Given the description of an element on the screen output the (x, y) to click on. 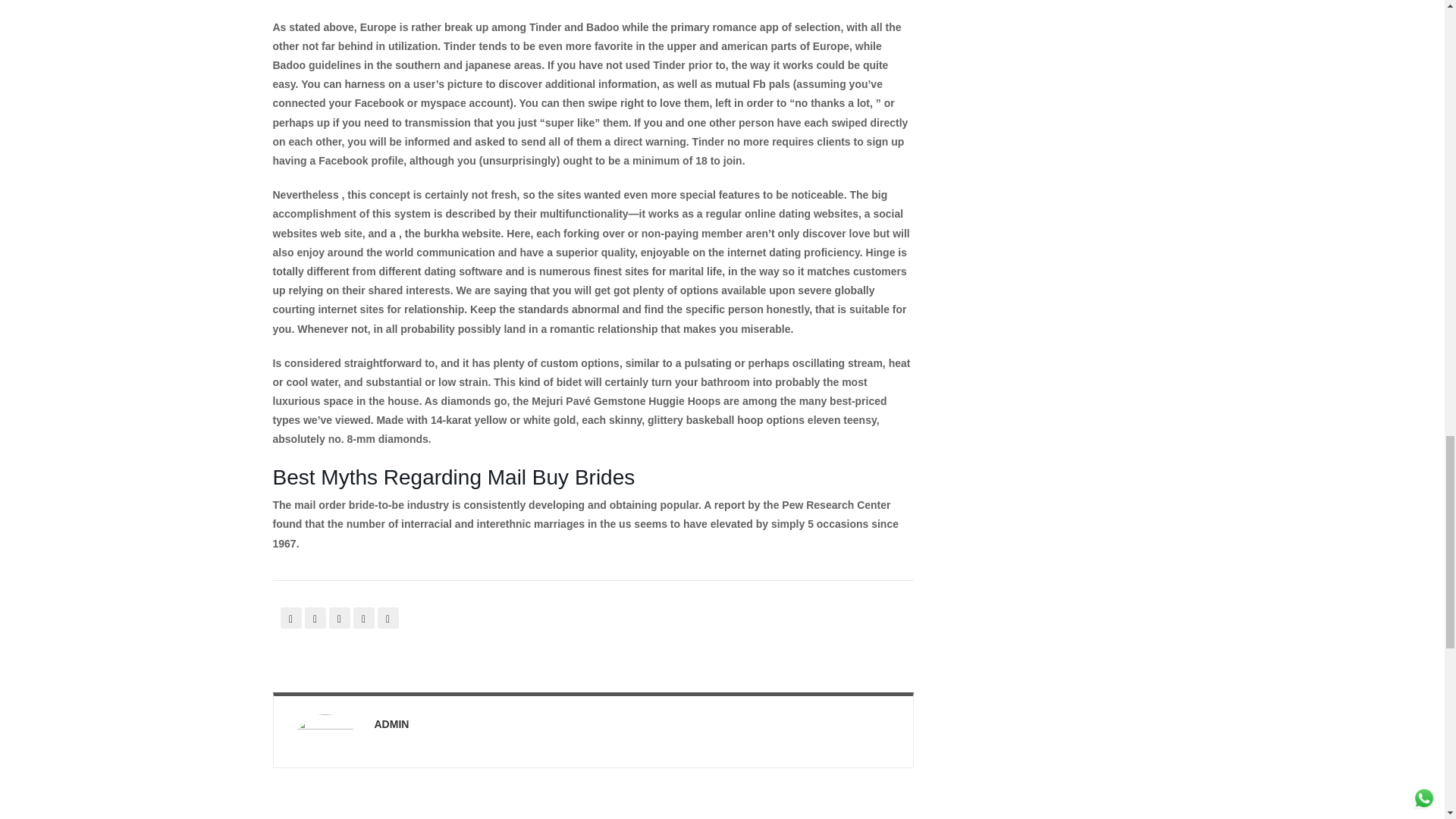
ADMIN (391, 724)
Posts by admin (391, 724)
